Given the description of an element on the screen output the (x, y) to click on. 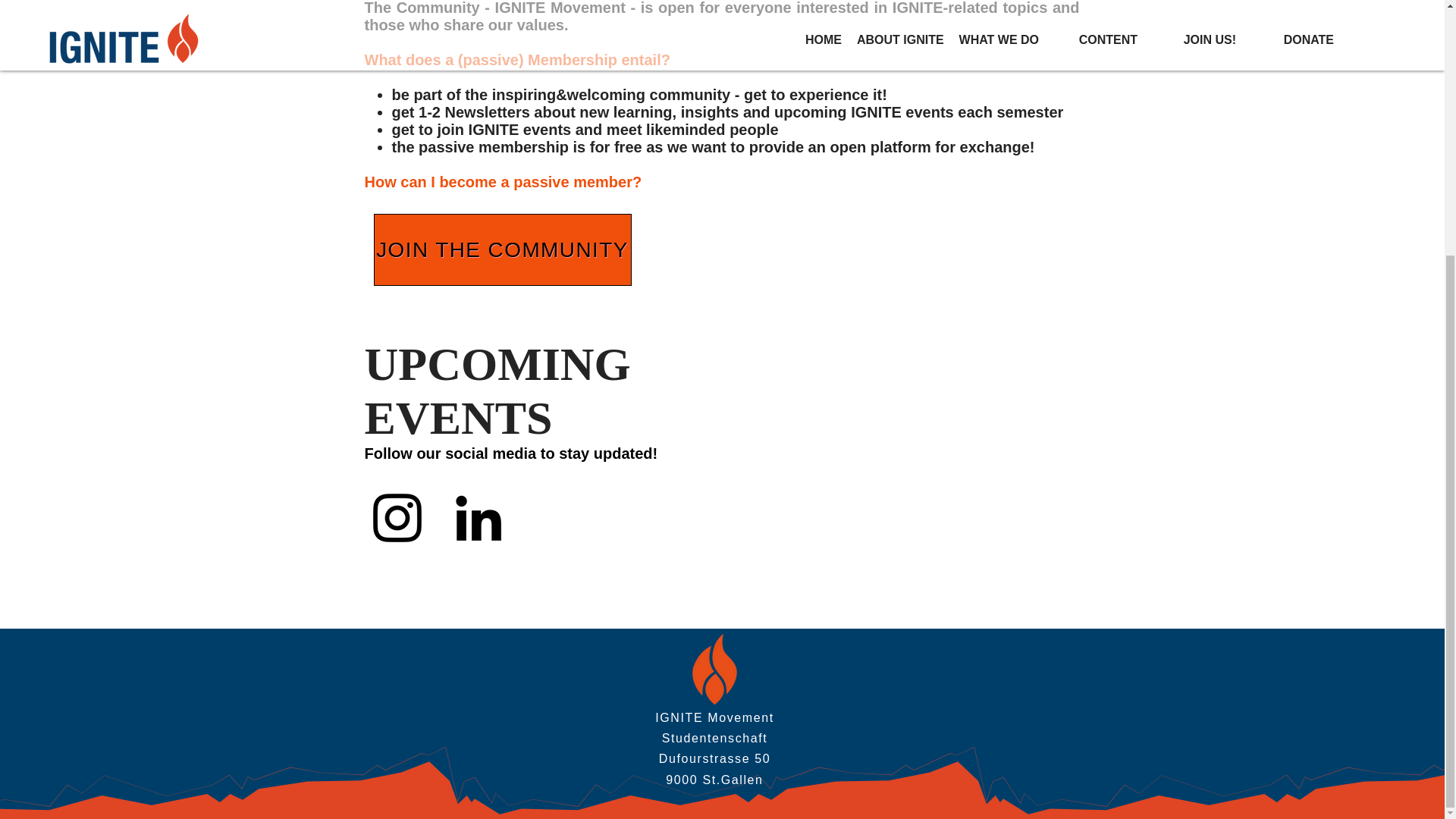
JOIN THE COMMUNITY (501, 249)
